Given the description of an element on the screen output the (x, y) to click on. 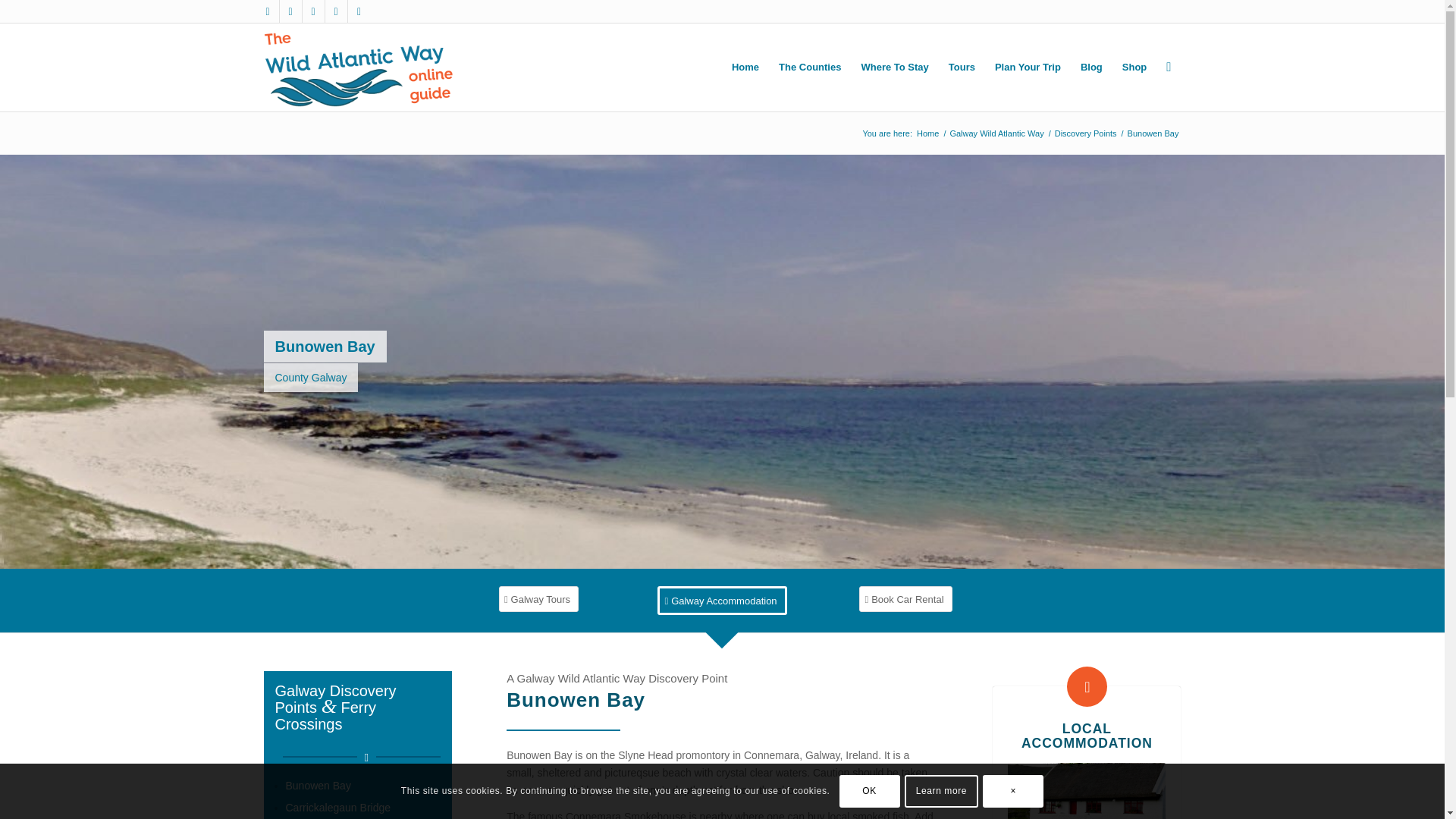
Wild Atlantic Way Map and Guide (359, 67)
Pinterest (335, 11)
Discovery Points (1085, 133)
Where To Stay (893, 67)
Facebook (267, 11)
The Counties (809, 67)
Wild Atlantic Way Ireland Map and Guide (927, 133)
Youtube (312, 11)
X (290, 11)
Plan Your Trip (1027, 67)
